Given the description of an element on the screen output the (x, y) to click on. 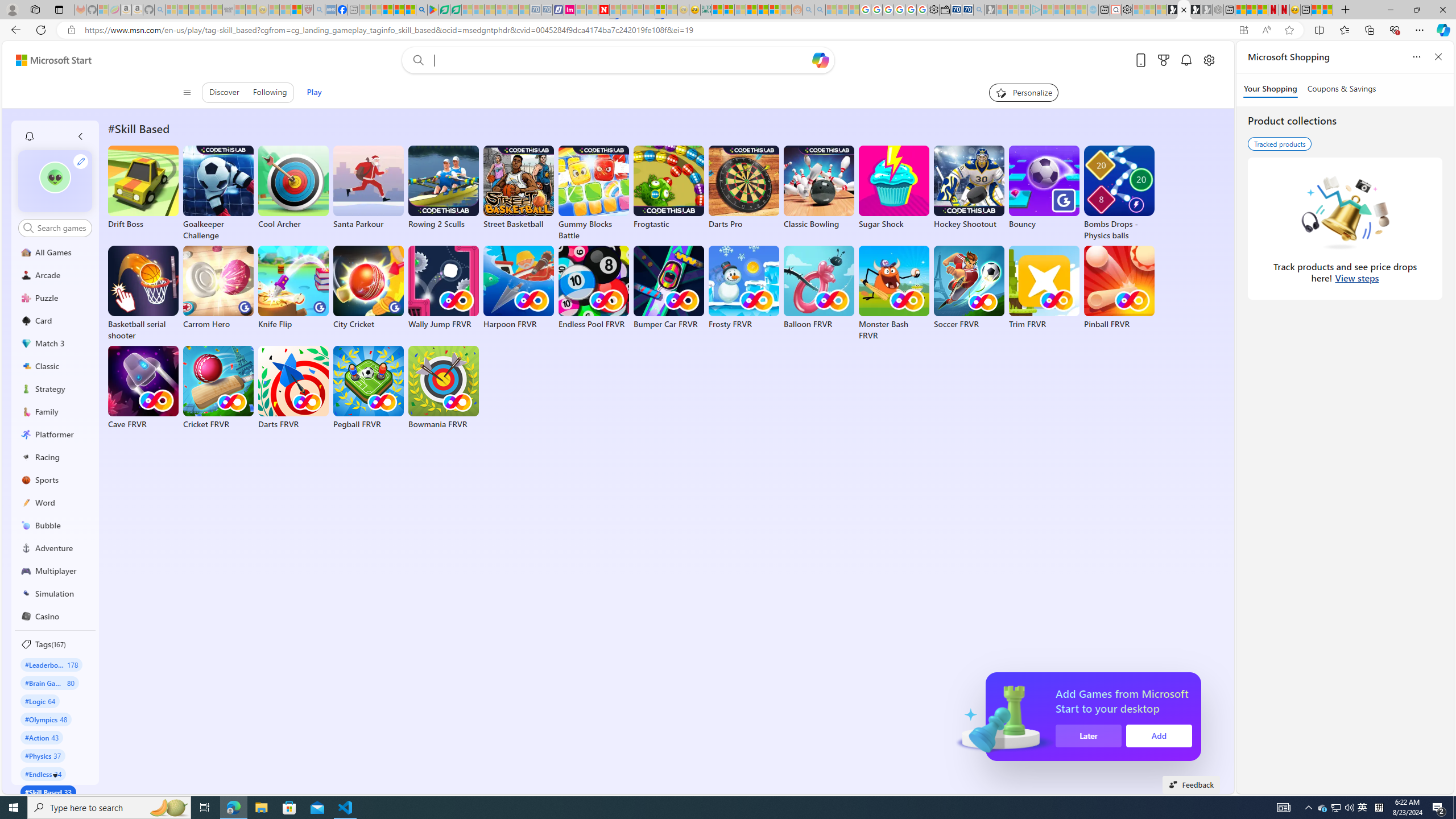
Terms of Use Agreement (443, 9)
Goalkeeper Challenge (218, 192)
Class: notification-item (28, 136)
Bowmania FRVR (443, 387)
#Brain Games 80 (49, 682)
Hockey Shootout (968, 187)
